Given the description of an element on the screen output the (x, y) to click on. 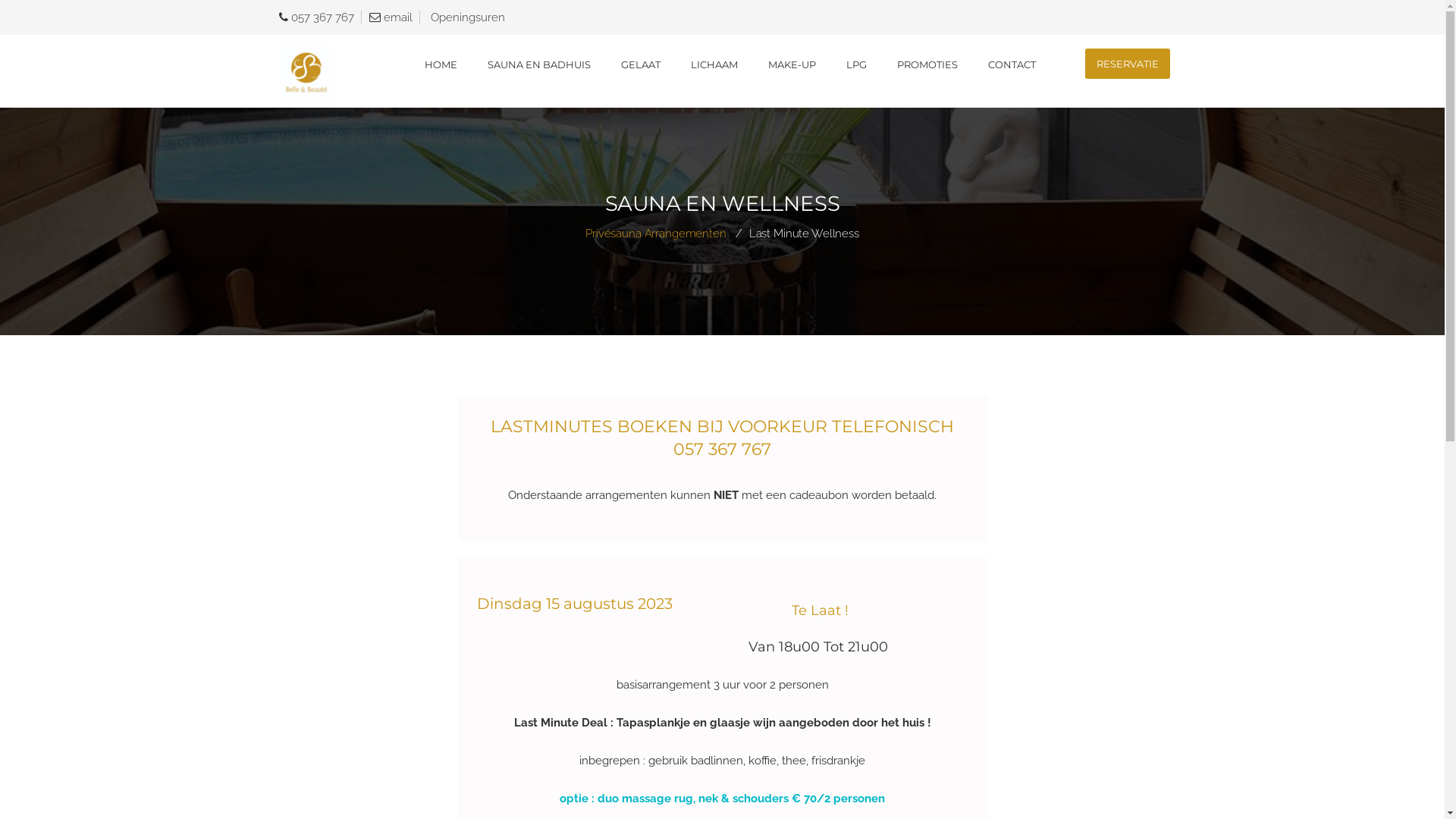
e Element type: text (386, 17)
PROMOTIES Element type: text (927, 64)
LICHAAM Element type: text (714, 64)
CONTACT Element type: text (1011, 64)
GELAAT Element type: text (640, 64)
HOME Element type: text (439, 64)
RESERVATIE Element type: text (1126, 70)
057 367 767 Element type: text (322, 17)
Openingsuren Element type: text (467, 17)
LPG Element type: text (855, 64)
MAKE-UP Element type: text (791, 64)
SAUNA EN BADHUIS Element type: text (539, 64)
